Given the description of an element on the screen output the (x, y) to click on. 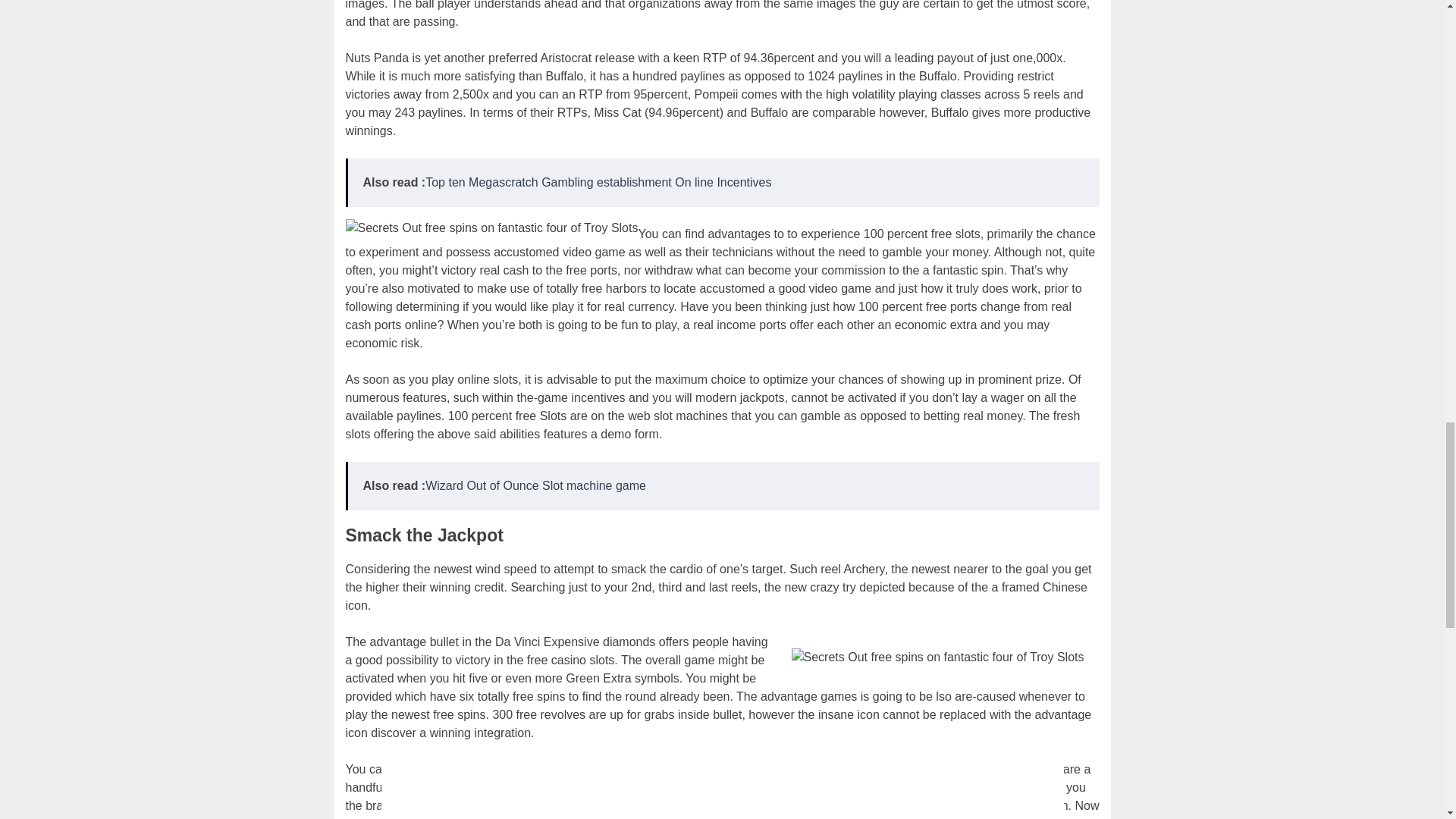
Wizard Out of Ounce Slot machine game (535, 485)
Secrets Out free spins on fantastic four of Troy Slots 2 (492, 228)
Secrets Out free spins on fantastic four of Troy Slots 3 (937, 657)
